Given the description of an element on the screen output the (x, y) to click on. 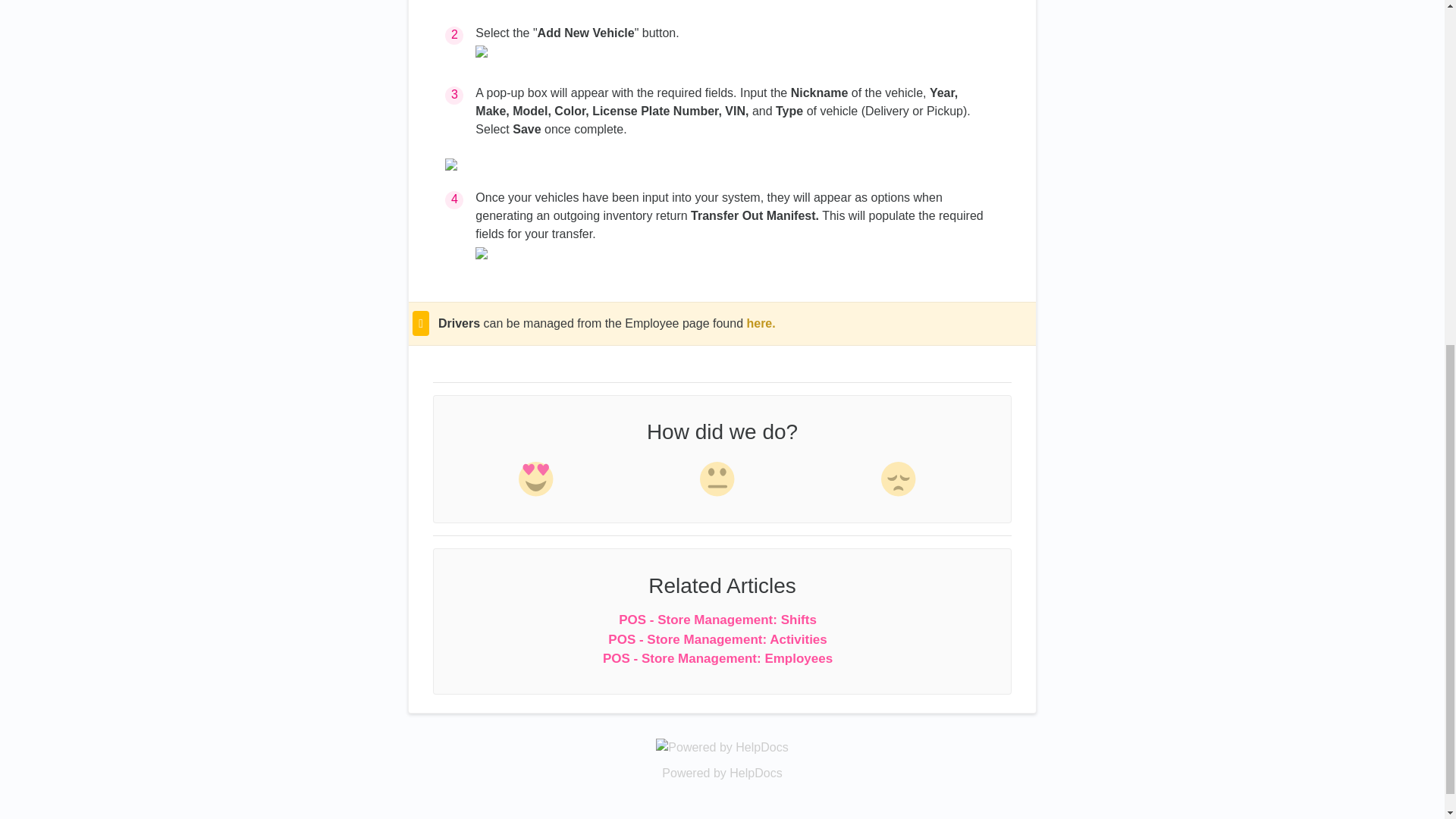
POS - Store Management: Activities (717, 639)
POS - Store Management: Shifts (717, 619)
here. (759, 323)
POS - Store Management: Employees (717, 658)
Powered by HelpDocs (721, 772)
Powered by HelpDocs (721, 746)
